Given the description of an element on the screen output the (x, y) to click on. 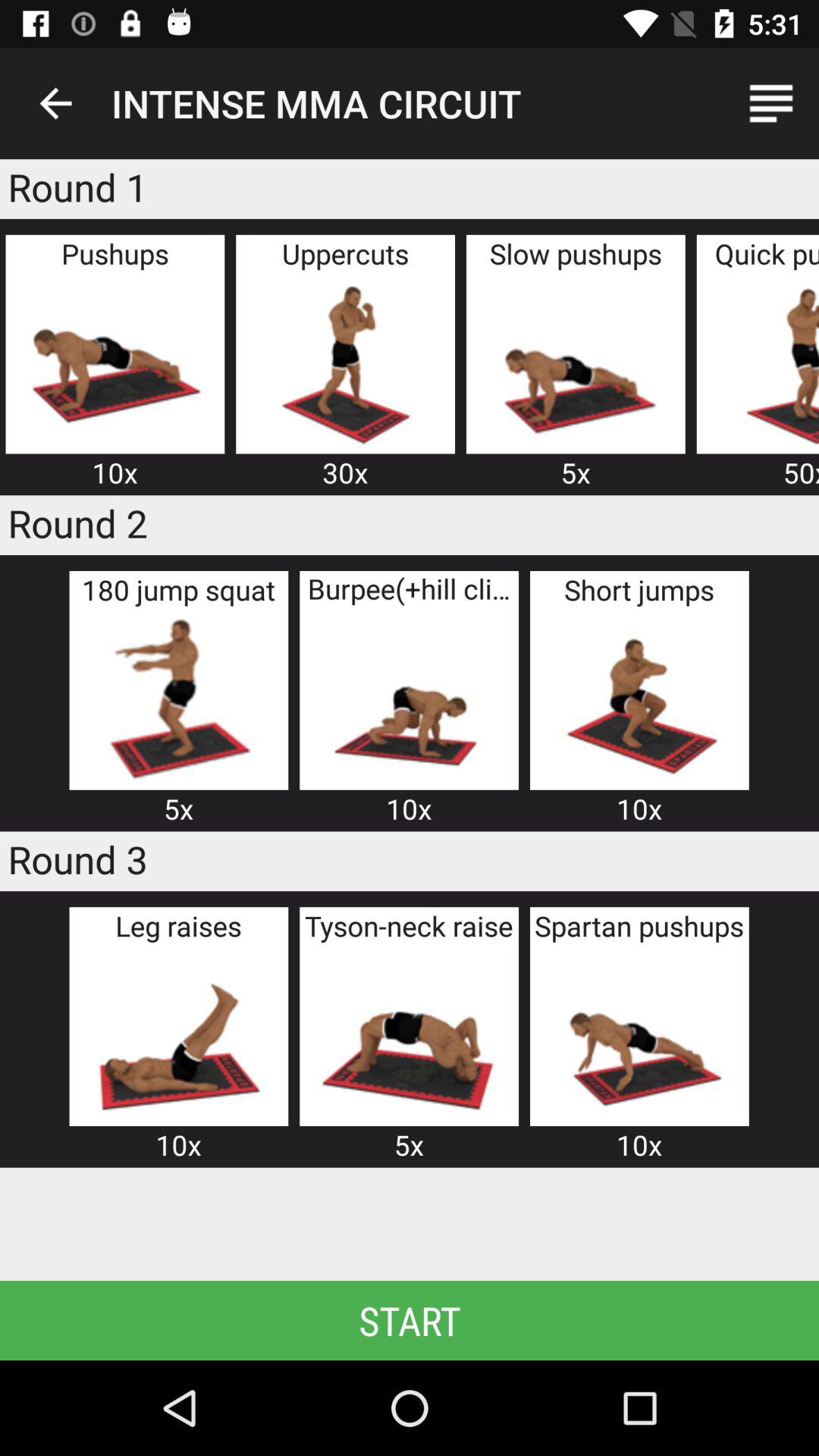
toggle the round 2 option (638, 698)
